Given the description of an element on the screen output the (x, y) to click on. 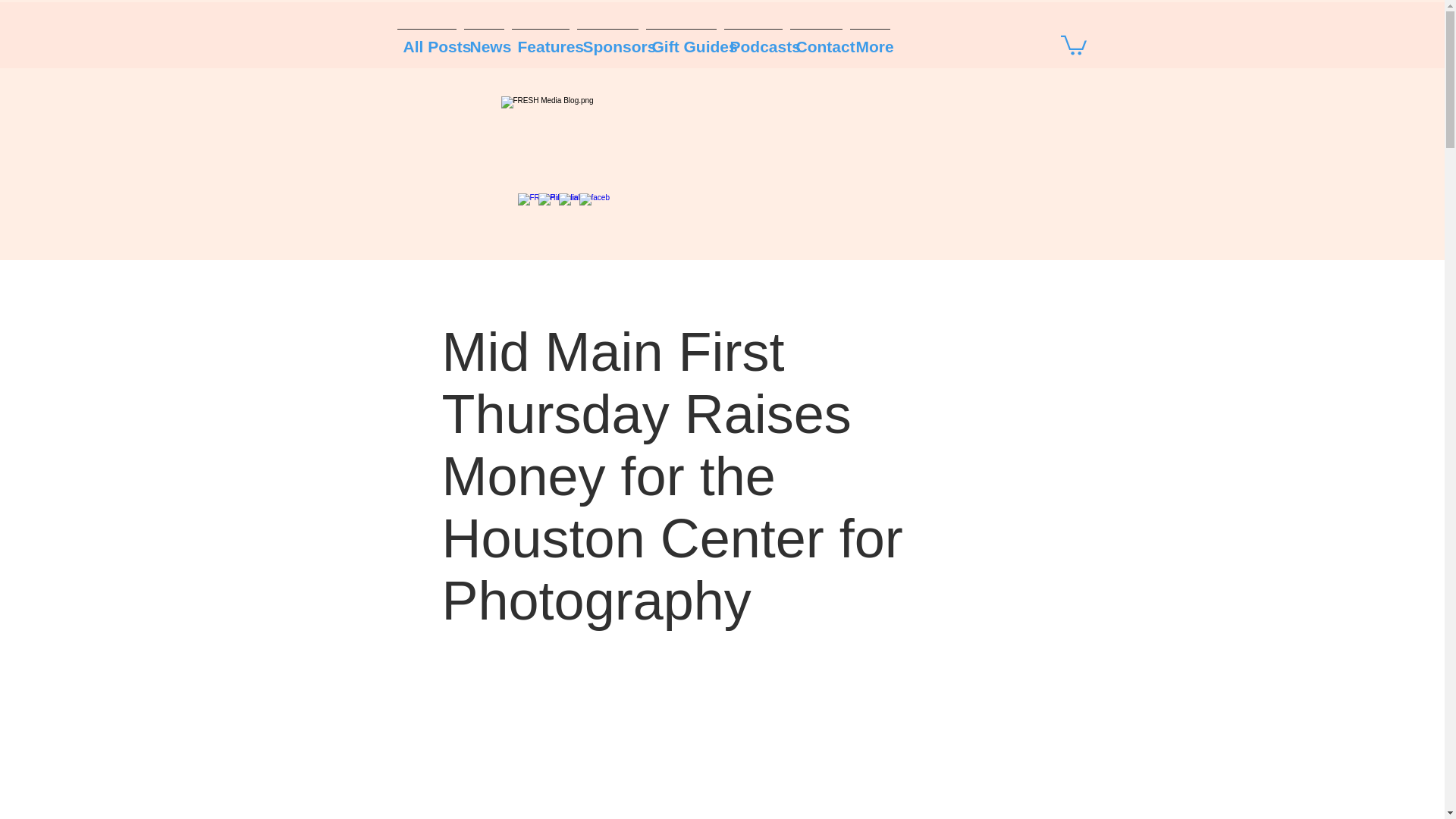
Sponsors (607, 39)
Features (540, 39)
Contact (815, 39)
Gift Guides (680, 39)
All Posts (426, 39)
News (483, 39)
Podcasts (753, 39)
